Given the description of an element on the screen output the (x, y) to click on. 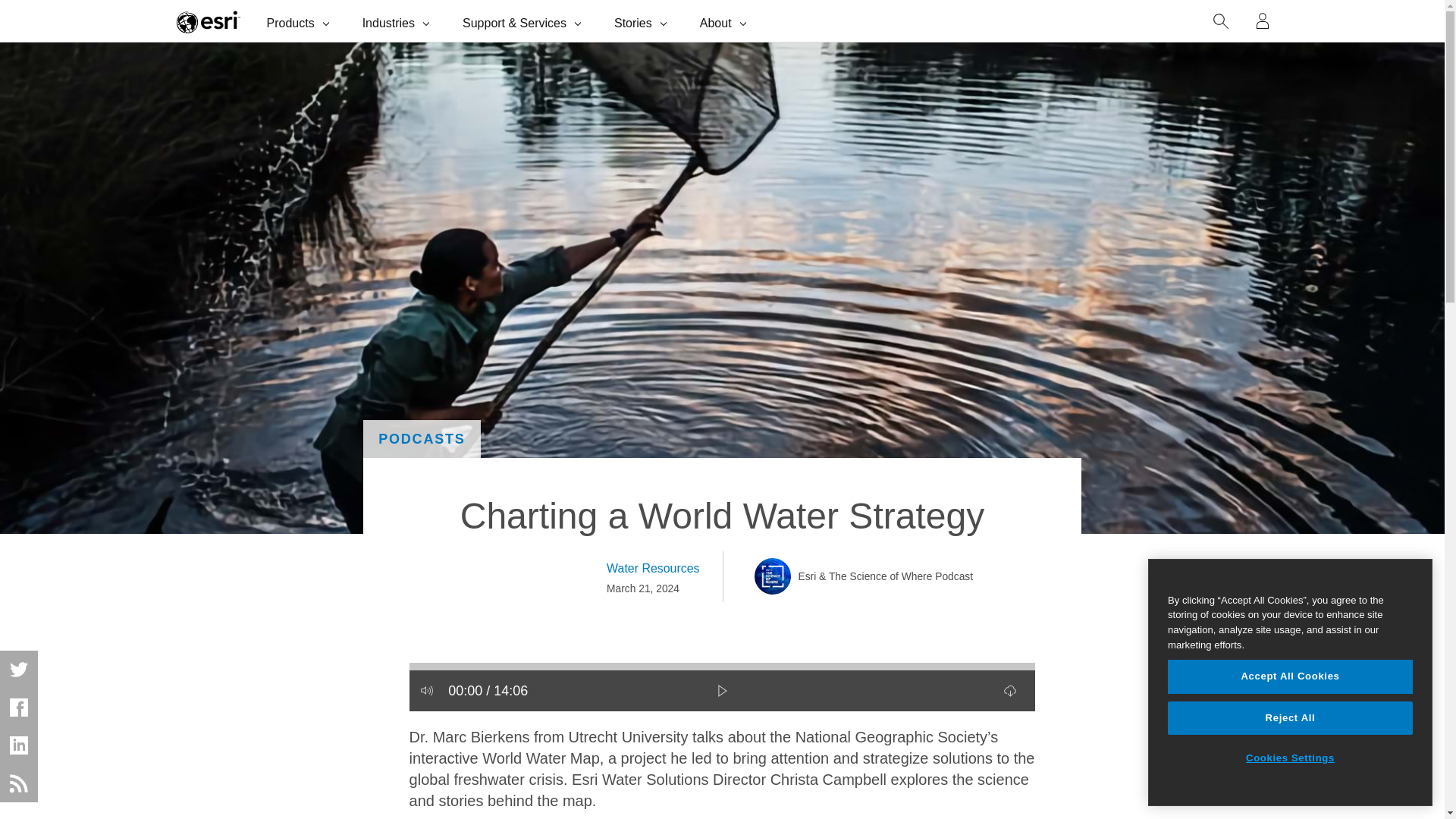
Industries (396, 20)
Esri home page (208, 21)
Esri home page (208, 21)
Esri home page (208, 21)
Products (299, 20)
Sign In (1262, 20)
Search (1220, 20)
